Given the description of an element on the screen output the (x, y) to click on. 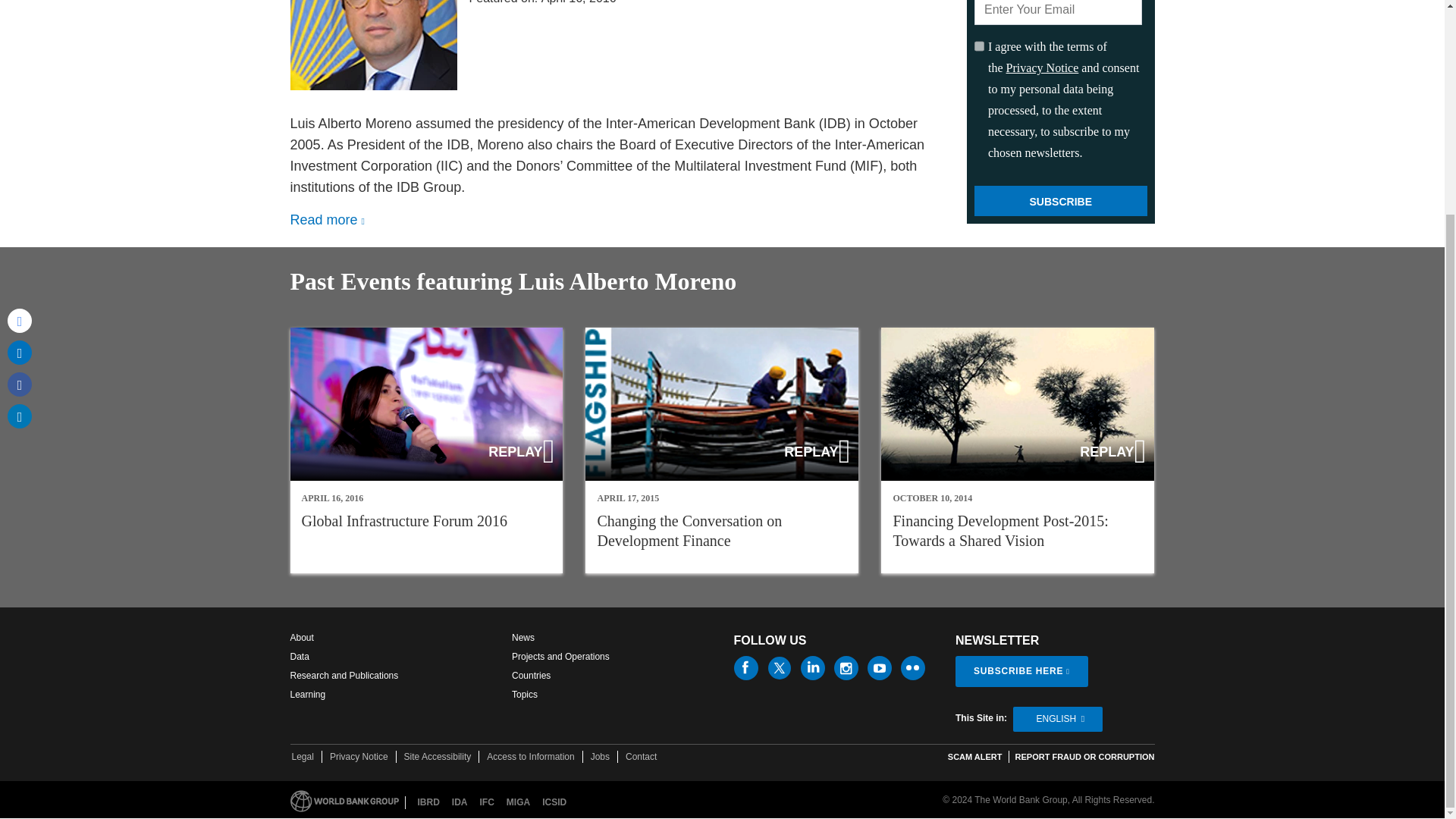
Changing the Conversation on Development Finance (688, 530)
SUBSCRIBE (1060, 200)
World Bank Group logo (343, 801)
Post (19, 70)
Email (19, 39)
Global Infrastructure Forum 2016 (425, 450)
Countries (531, 675)
Topics (524, 694)
About (301, 637)
